Given the description of an element on the screen output the (x, y) to click on. 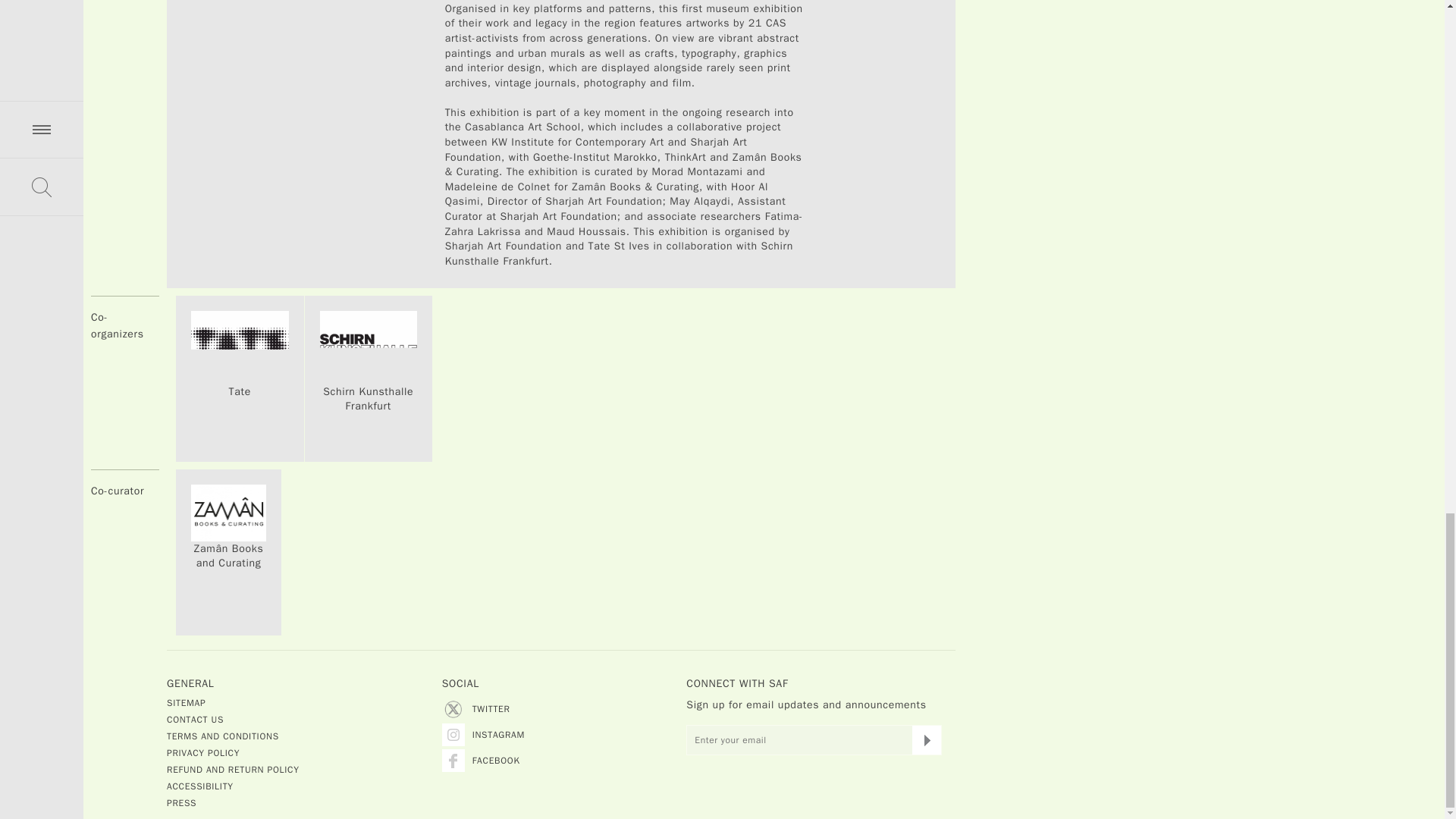
Tate (239, 391)
Tate (239, 347)
Schirn Kunsthalle Frankfurt (368, 347)
Schirn Kunsthalle Frankfurt (368, 398)
Subscribe (926, 739)
